Given the description of an element on the screen output the (x, y) to click on. 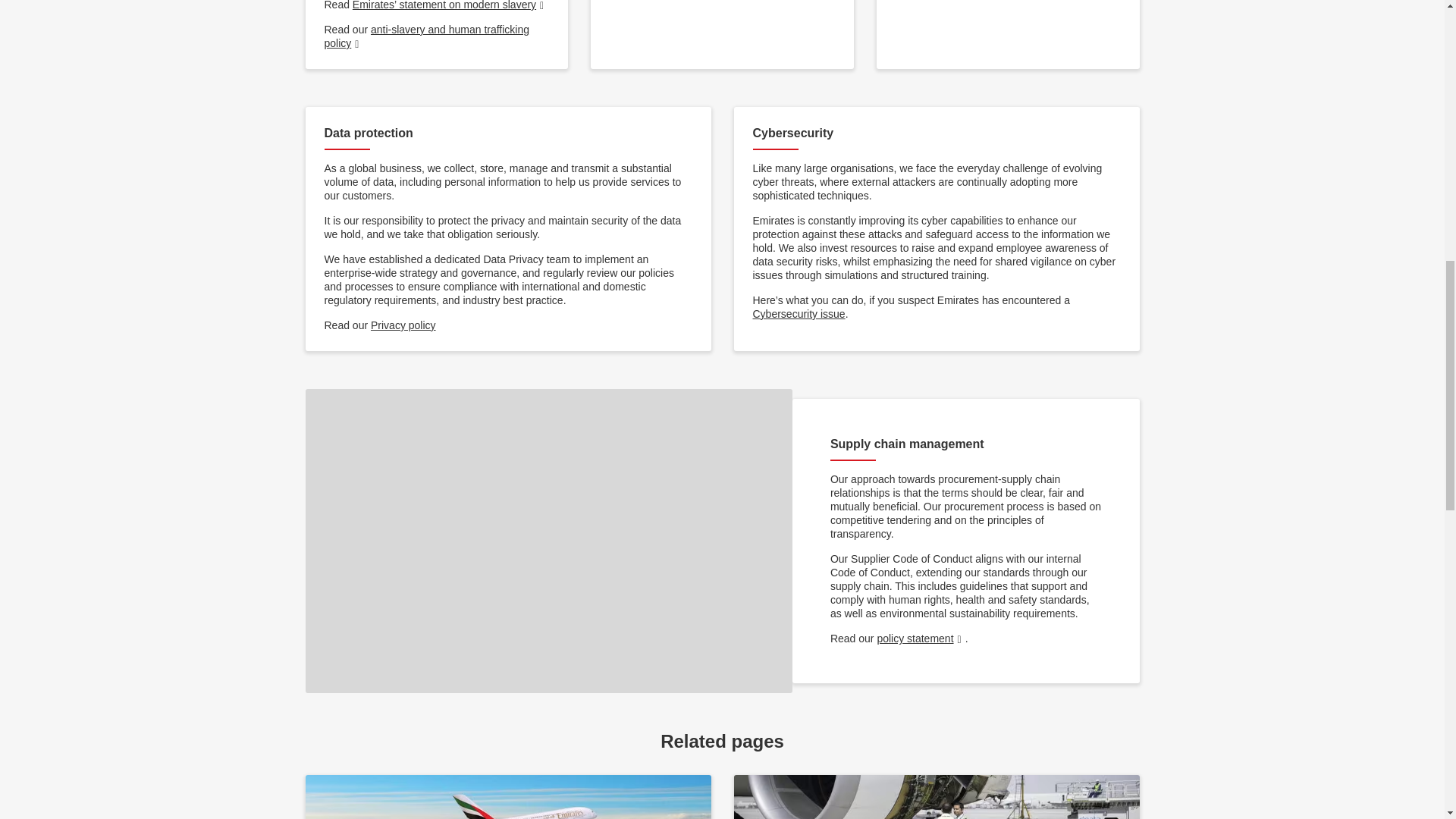
dnata staff on airfield (936, 796)
emirates-statement-on-modern-slavery.pdf (449, 5)
anti-slavery-and-human-trafficking-policy.pdf (426, 36)
Emirates A380 (507, 796)
